Given the description of an element on the screen output the (x, y) to click on. 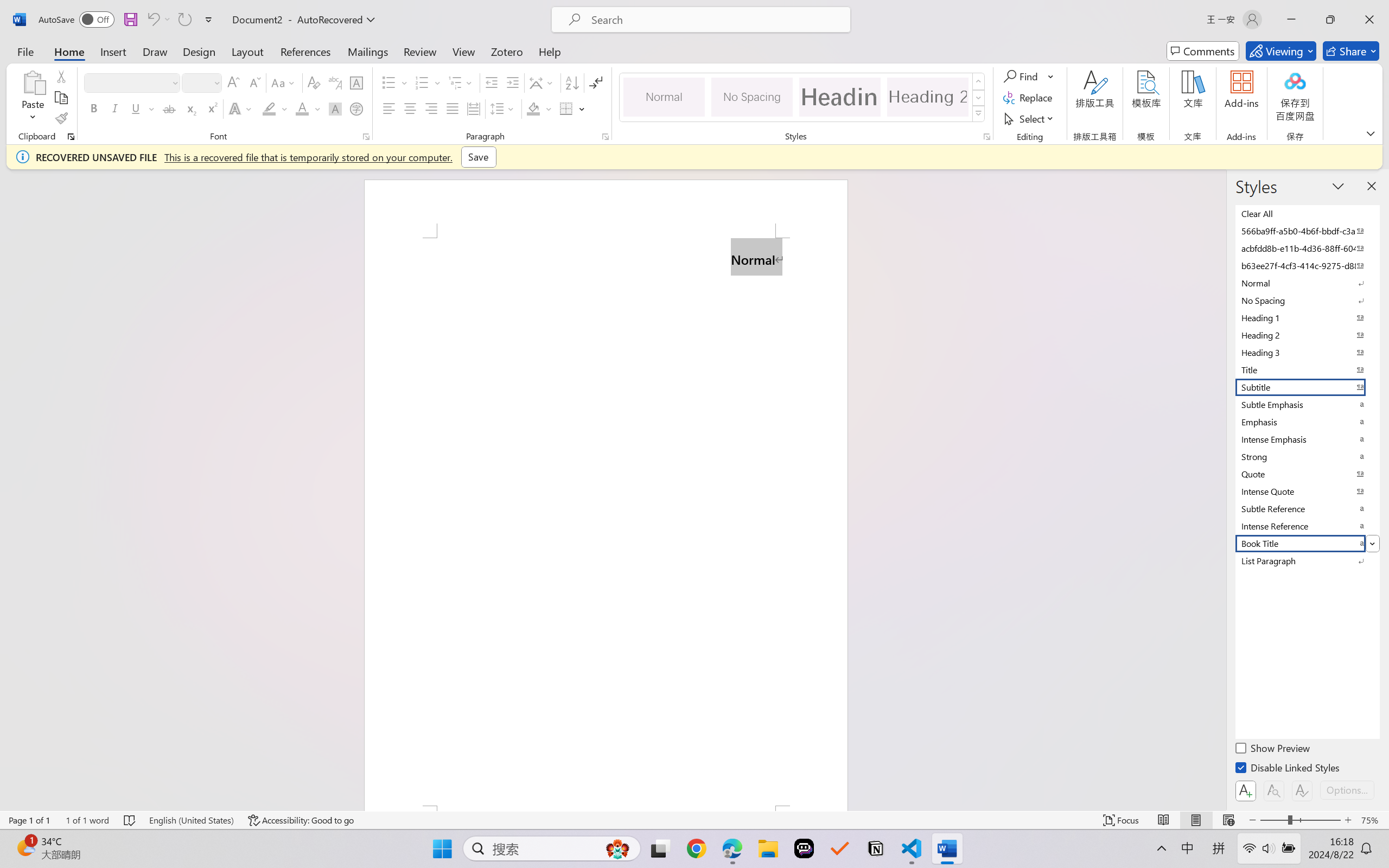
Font Color (308, 108)
Subtle Reference (1306, 508)
Character Border (356, 82)
Cut (60, 75)
Font Color RGB(255, 0, 0) (302, 108)
Disable Linked Styles (1287, 769)
Paragraph... (605, 136)
b63ee27f-4cf3-414c-9275-d88e3f90795e (1306, 265)
Asian Layout (542, 82)
Subtitle (1306, 386)
